Given the description of an element on the screen output the (x, y) to click on. 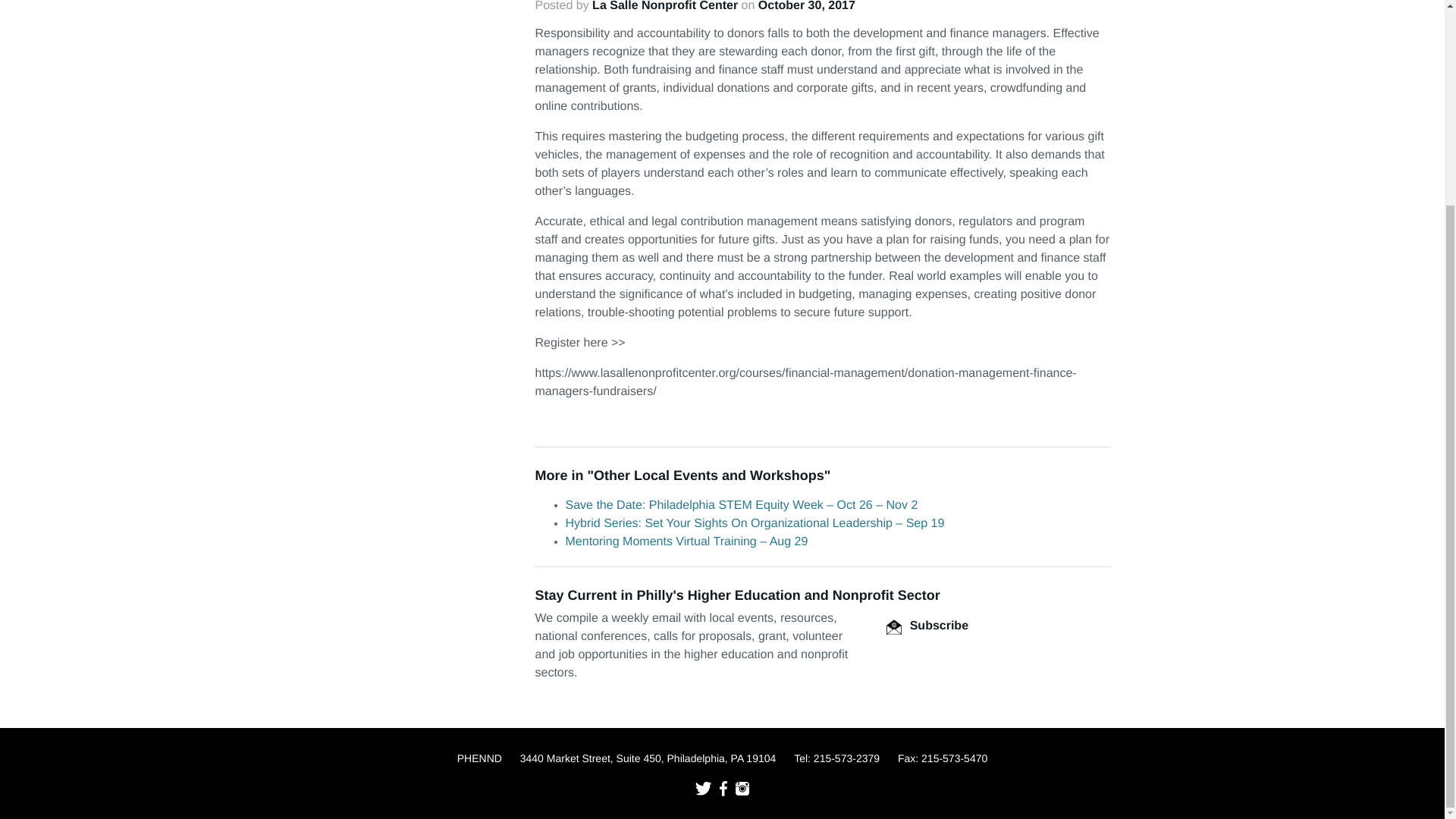
Other Local Events and Workshops (709, 475)
La Salle Nonprofit Center (665, 6)
October 30, 2017 (807, 6)
Subscribe (927, 625)
